Given the description of an element on the screen output the (x, y) to click on. 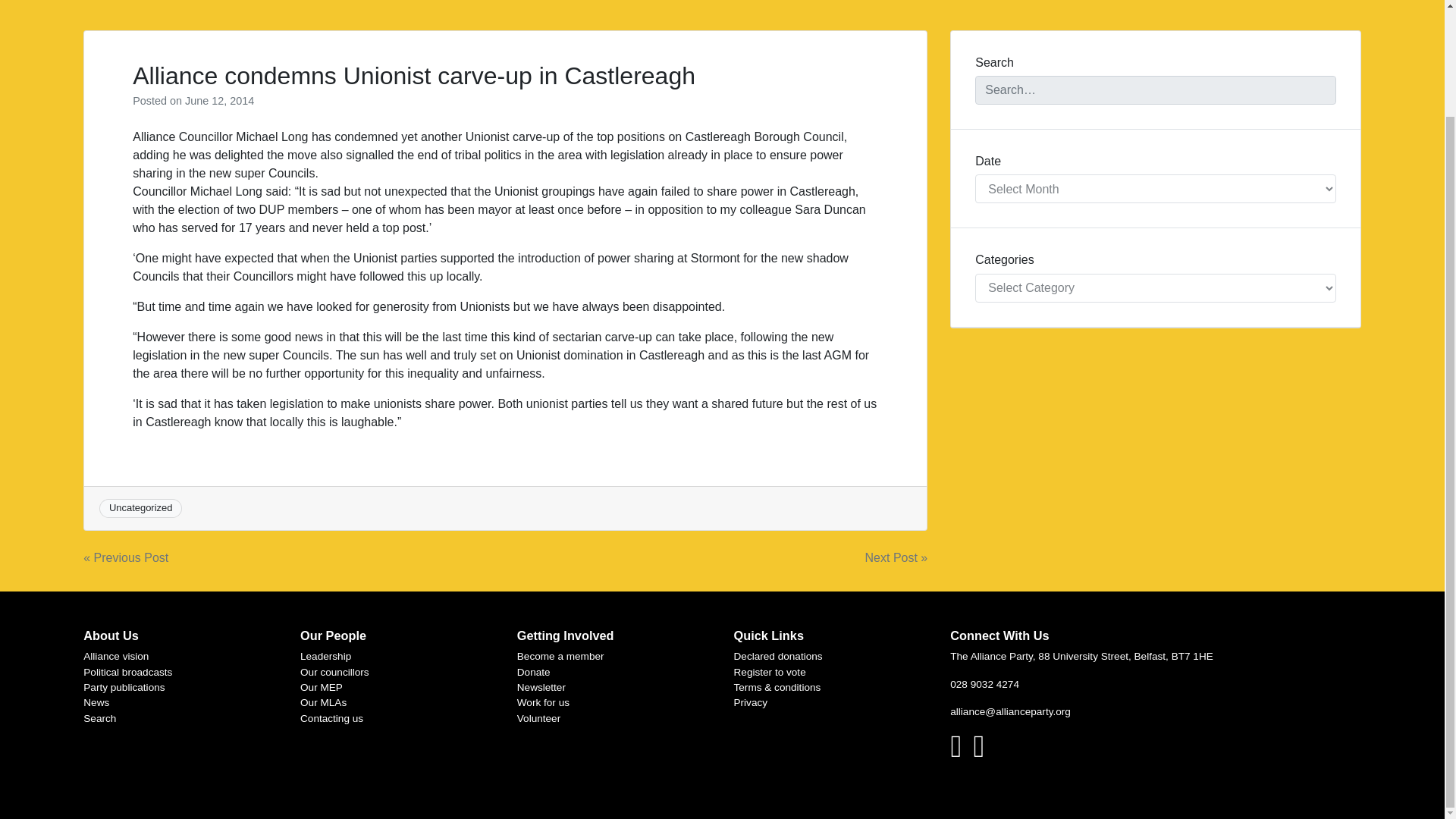
Volunteer (538, 717)
Our MEP (320, 686)
Search (99, 717)
Contacting us (330, 717)
Party publications (123, 686)
Register to vote (769, 672)
Our councillors (334, 672)
028 9032 4274 (984, 684)
Political broadcasts (126, 672)
Declared donations (777, 655)
Alliance vision (115, 655)
Work for us (542, 702)
June 12, 2014 (218, 101)
Our MLAs (322, 702)
Become a member (560, 655)
